Given the description of an element on the screen output the (x, y) to click on. 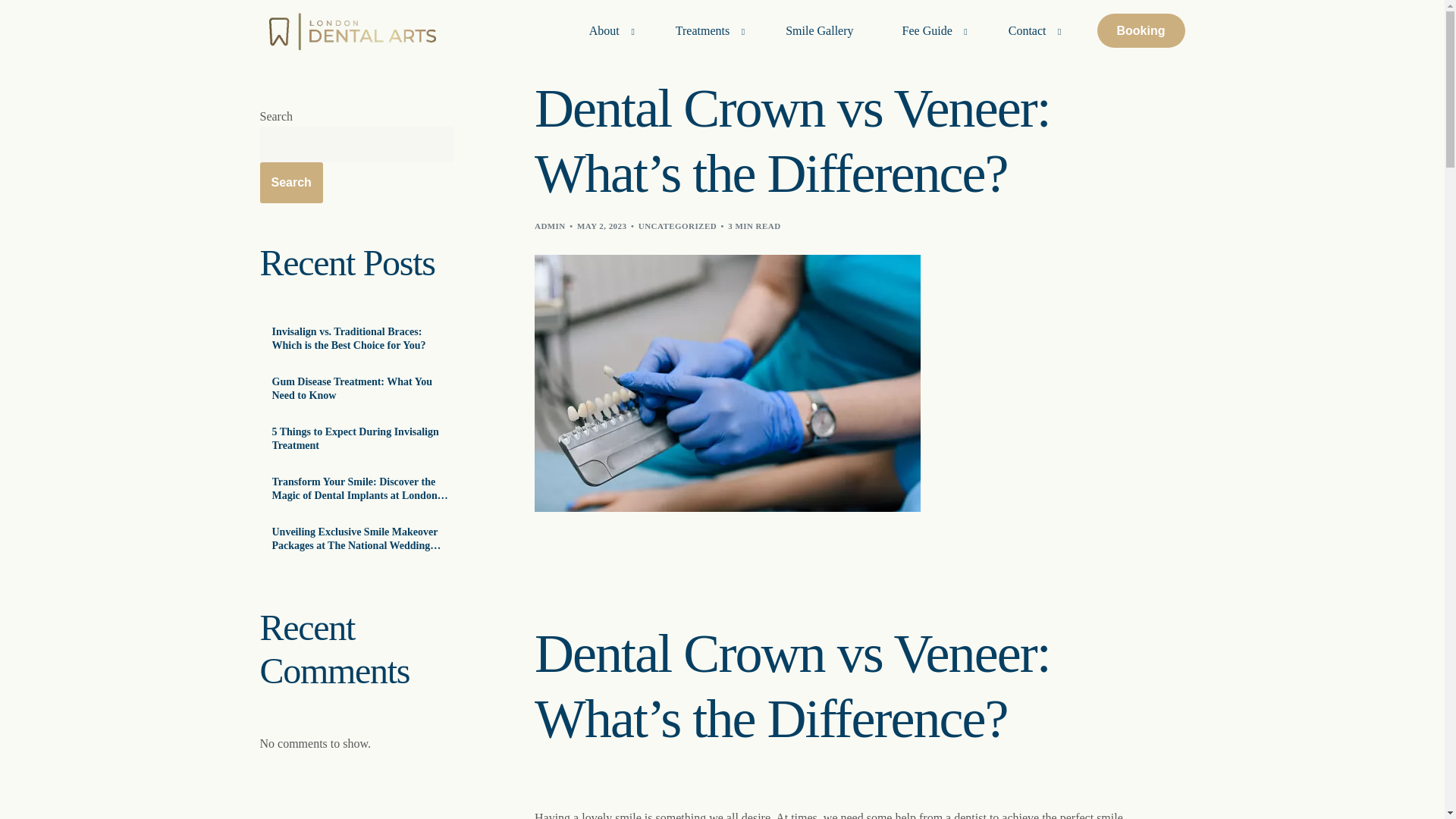
Treatments (705, 30)
About (607, 30)
Posts by admin (550, 225)
